Given the description of an element on the screen output the (x, y) to click on. 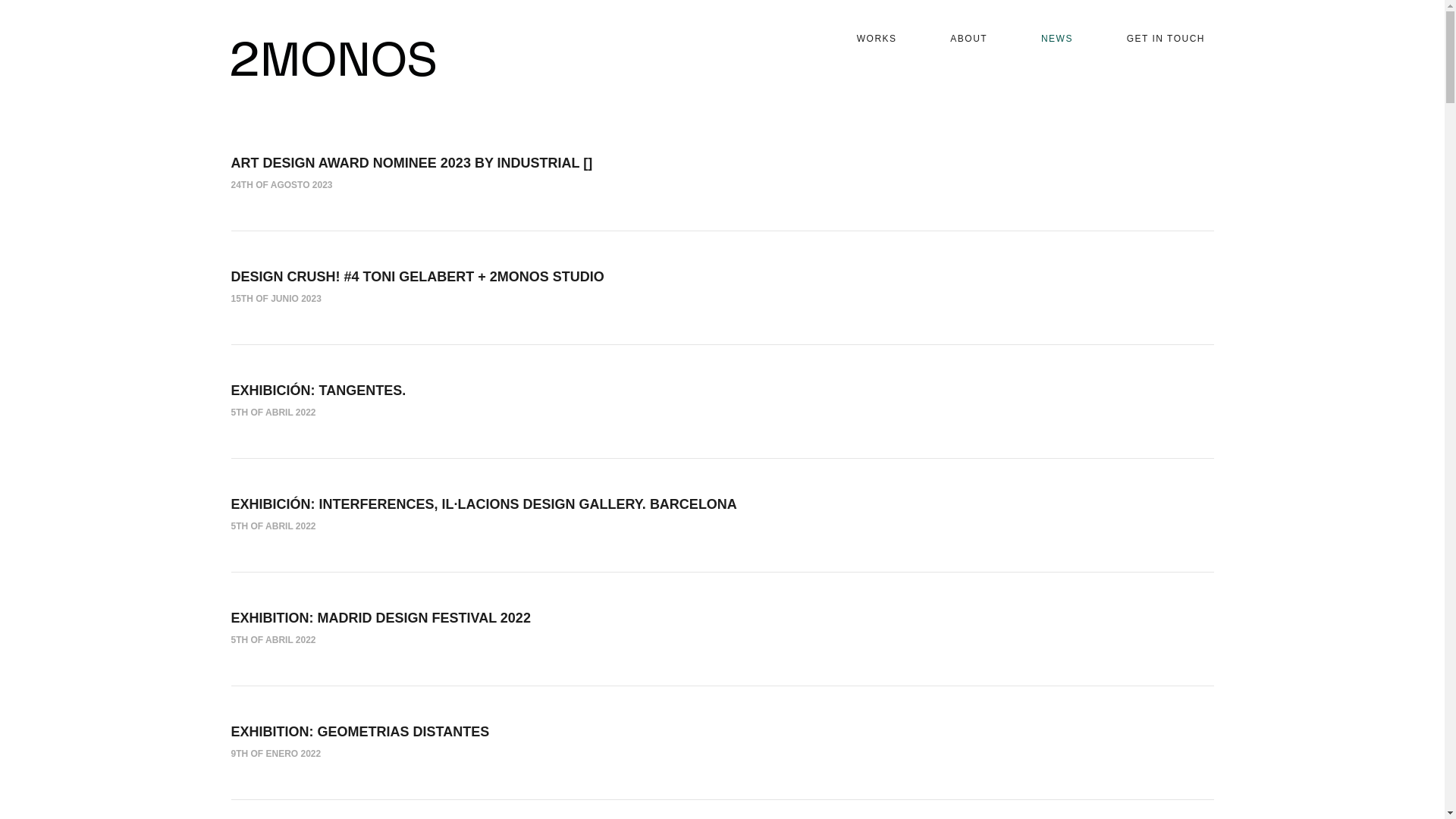
NEWS Element type: text (1057, 39)
ABOUT Element type: text (968, 39)
GET IN TOUCH Element type: text (1165, 39)
EXHIBITION: GEOMETRIAS DISTANTES
9TH OF ENERO 2022 Element type: text (721, 742)
EXHIBITION: MADRID DESIGN FESTIVAL 2022
5TH OF ABRIL 2022 Element type: text (721, 628)
WORKS Element type: text (876, 39)
